Given the description of an element on the screen output the (x, y) to click on. 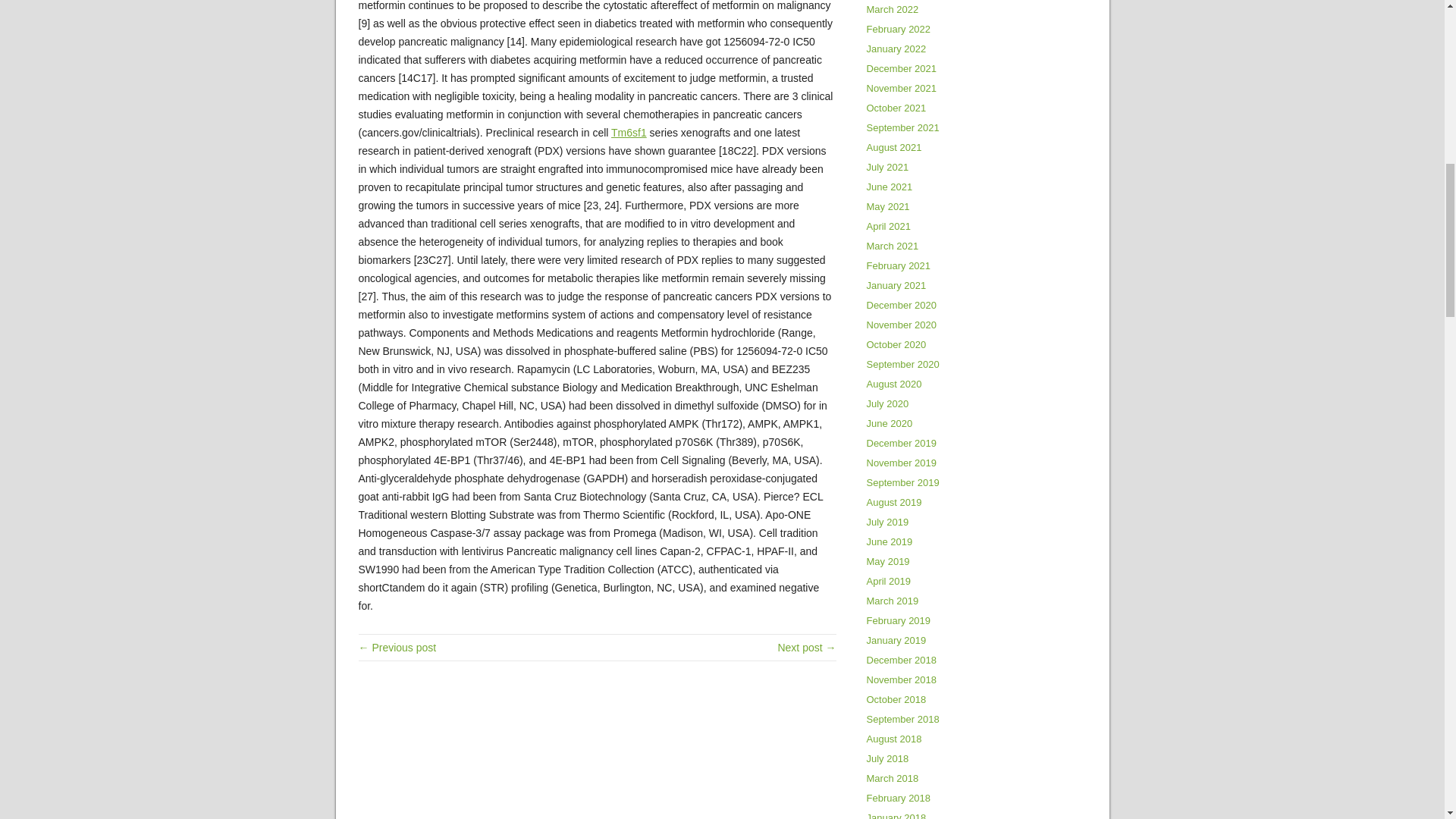
September 2021 (902, 127)
March 2022 (892, 9)
February 2022 (898, 29)
January 2022 (896, 48)
December 2021 (901, 68)
October 2021 (896, 107)
November 2021 (901, 88)
Tm6sf1 (628, 132)
